Given the description of an element on the screen output the (x, y) to click on. 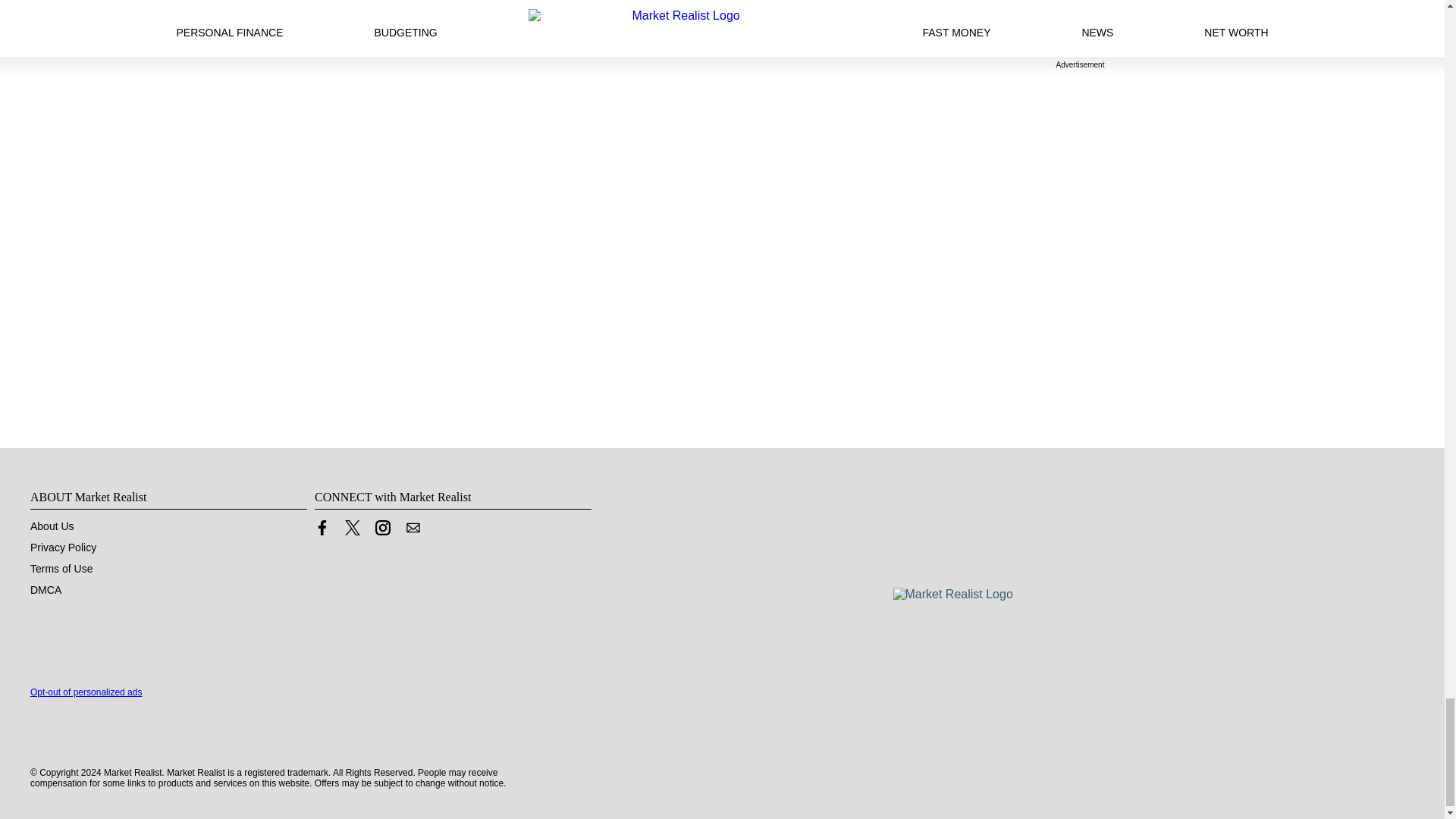
About Us (52, 526)
Privacy Policy (63, 547)
DMCA (45, 589)
Contact us by Email (413, 527)
Link to X (352, 531)
About Us (52, 526)
Link to Facebook (322, 531)
Terms of Use (61, 568)
Contact us by Email (413, 531)
DMCA (45, 589)
